Given the description of an element on the screen output the (x, y) to click on. 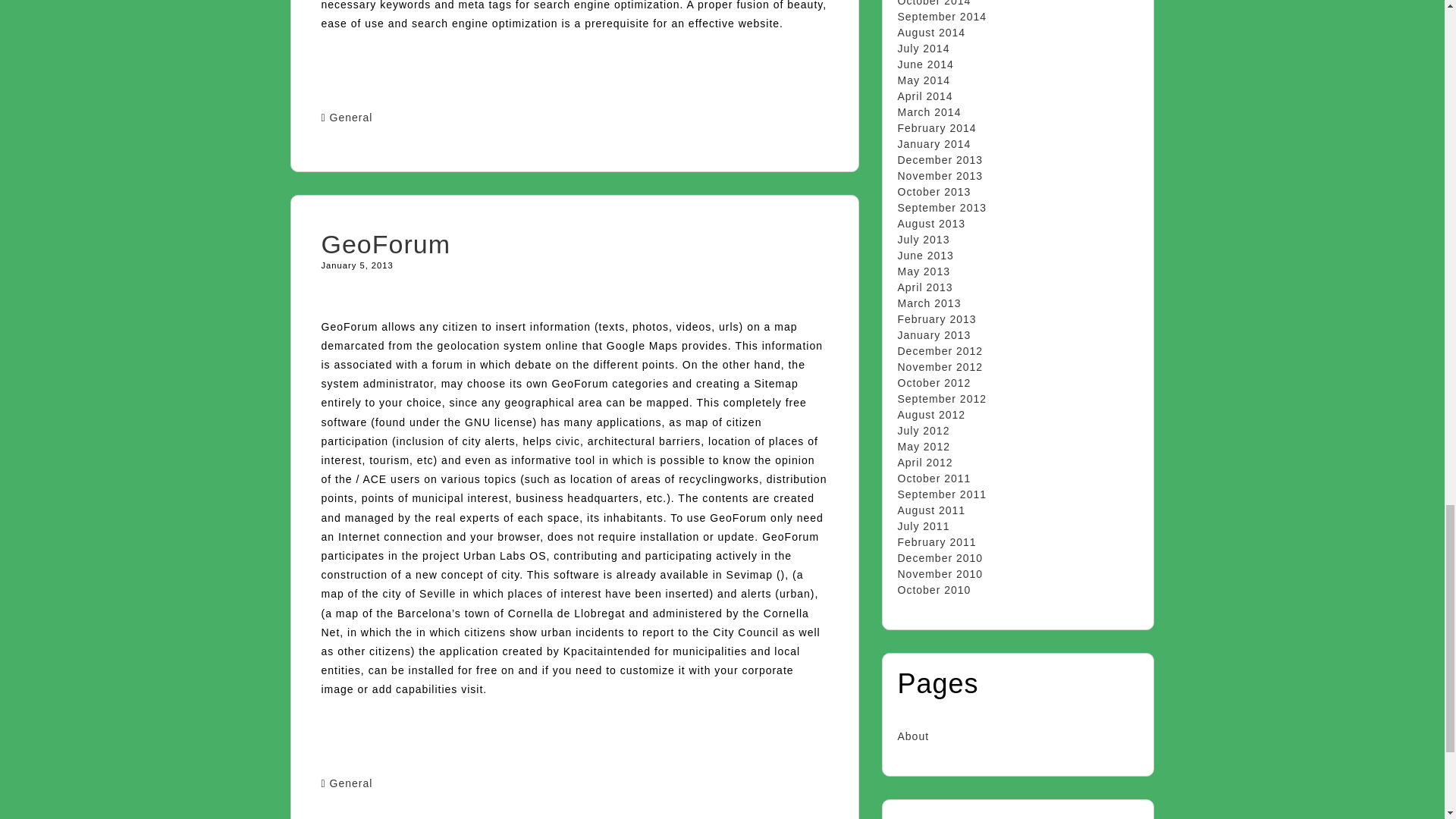
General (351, 117)
General (351, 783)
GeoForum (386, 244)
